Given the description of an element on the screen output the (x, y) to click on. 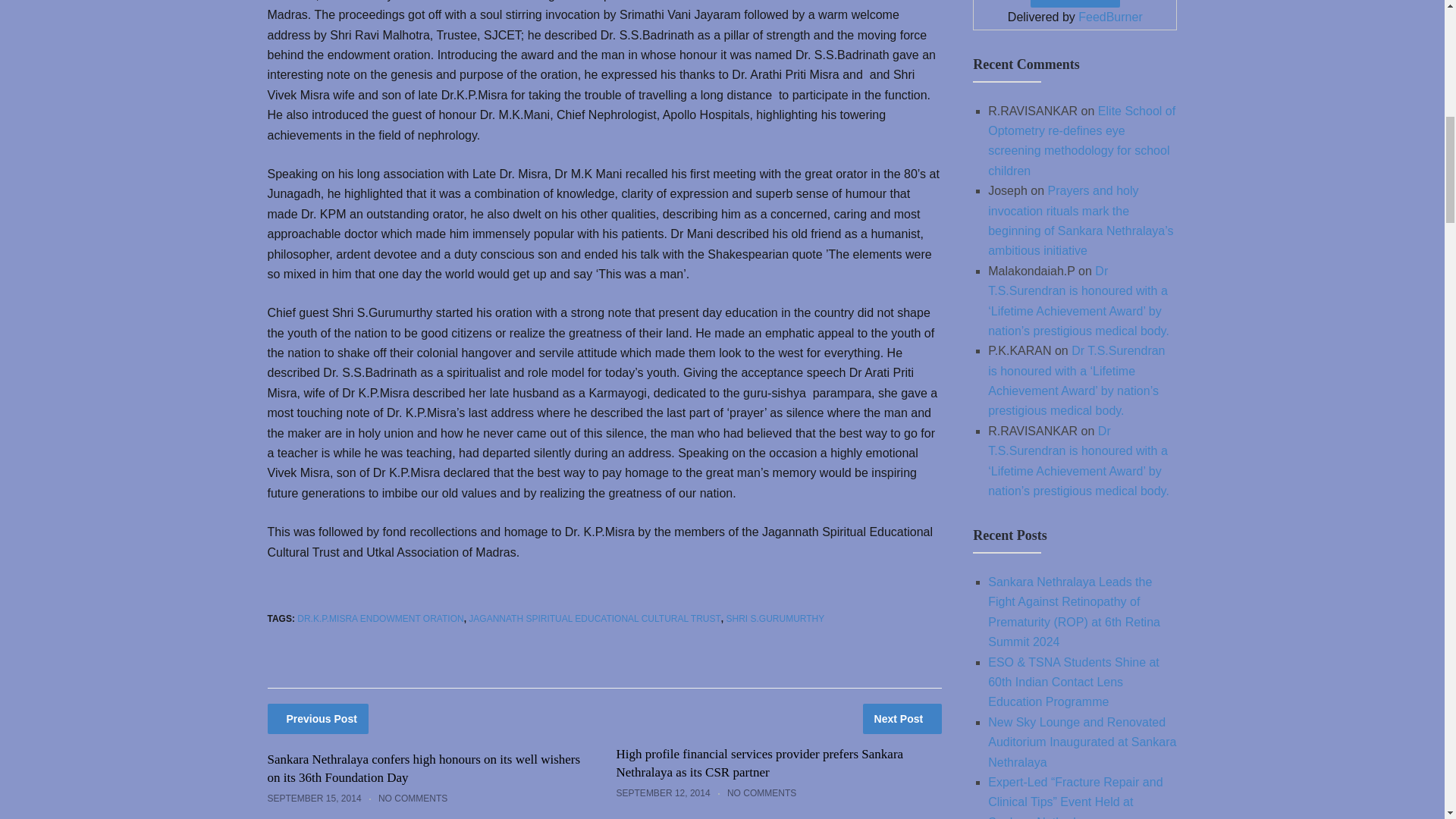
Subscribe (1074, 3)
DR.K.P.MISRA ENDOWMENT ORATION (380, 618)
JAGANNATH SPIRITUAL EDUCATIONAL CULTURAL TRUST (594, 618)
Previous Post (317, 718)
SHRI S.GURUMURTHY (774, 618)
NO COMMENTS (412, 798)
Subscribe (1074, 3)
NO COMMENTS (761, 792)
Next Post (902, 718)
FeedBurner (1110, 16)
